Given the description of an element on the screen output the (x, y) to click on. 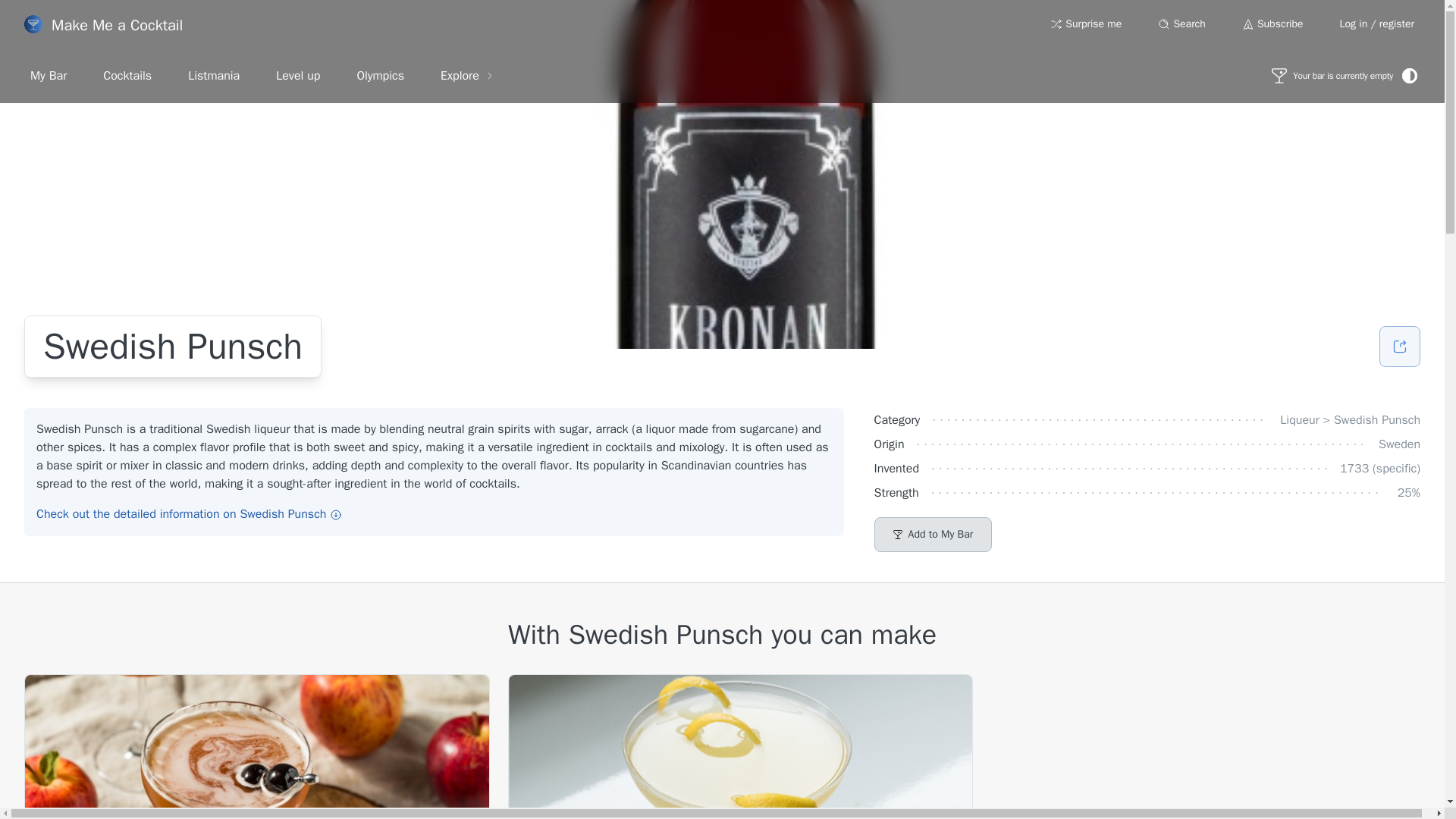
Explore (467, 75)
Level up (297, 75)
My Bar (47, 75)
Go to My Bar (1332, 75)
Make Me a Cocktail (103, 24)
Surprise me (1086, 24)
Cocktails (127, 75)
Add to My Bar (933, 534)
Search (1182, 24)
Listmania (213, 75)
Olympics (379, 75)
Your bar is currently empty (1332, 75)
Subscribe (1273, 24)
